Given the description of an element on the screen output the (x, y) to click on. 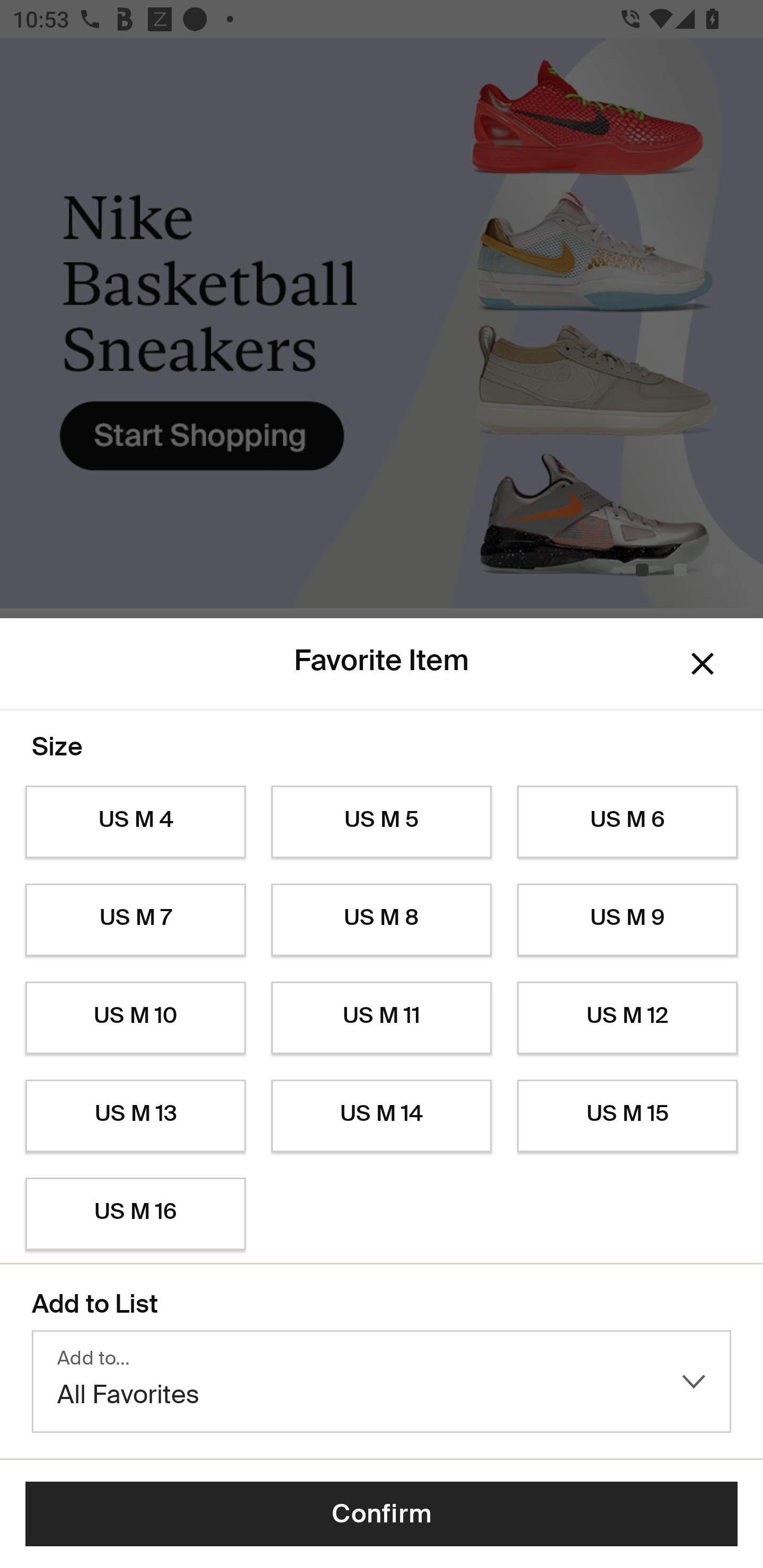
Dismiss (702, 663)
US M 4 (135, 822)
US M 5 (381, 822)
US M 6 (627, 822)
US M 7 (135, 919)
US M 8 (381, 919)
US M 9 (627, 919)
US M 10 (135, 1018)
US M 11 (381, 1018)
US M 12 (627, 1018)
US M 13 (135, 1116)
US M 14 (381, 1116)
US M 15 (627, 1116)
US M 16 (135, 1214)
Add to… All Favorites (381, 1381)
Confirm (381, 1513)
